Given the description of an element on the screen output the (x, y) to click on. 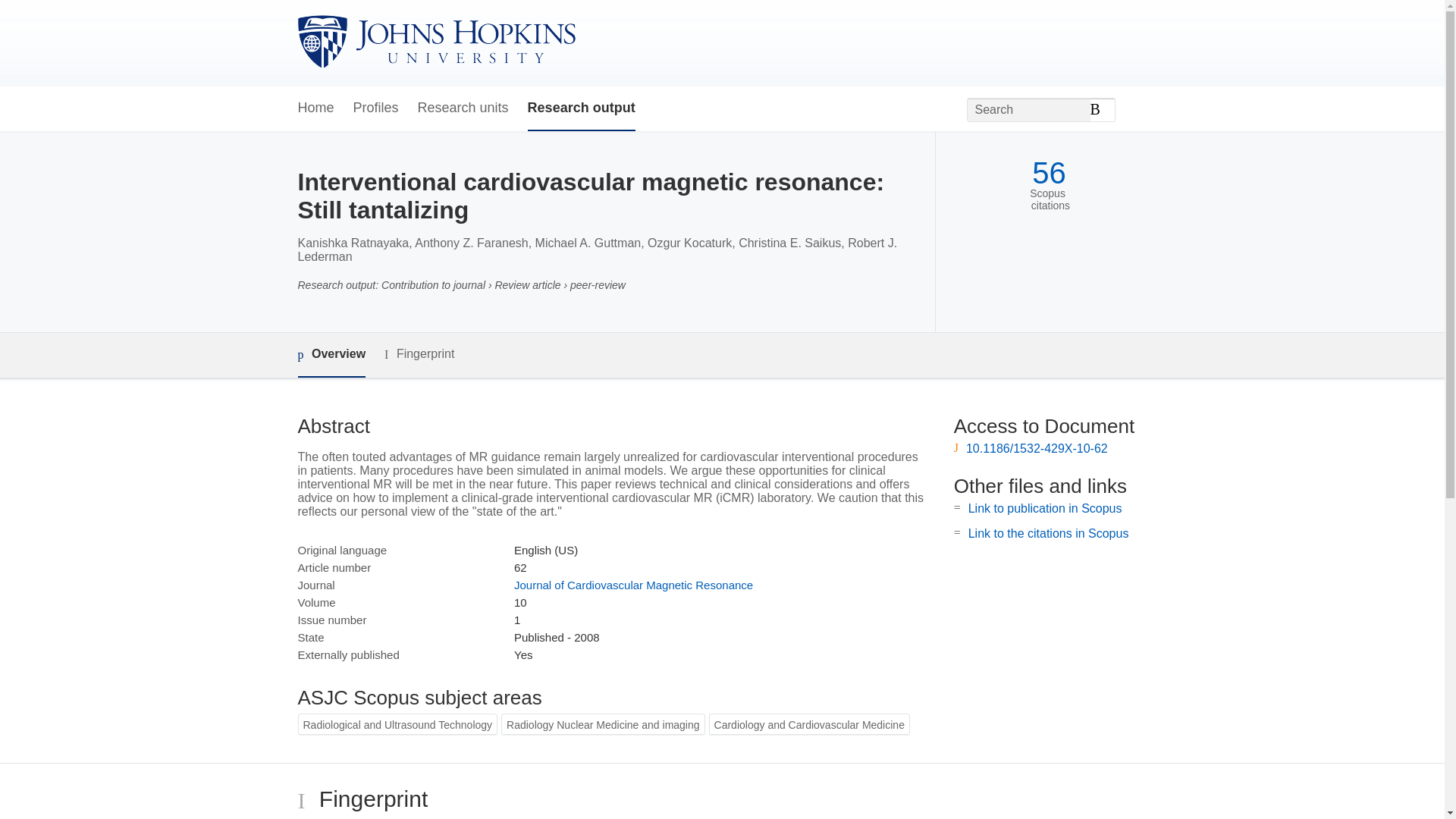
Link to the citations in Scopus (1048, 533)
Profiles (375, 108)
Link to publication in Scopus (1045, 508)
56 (1048, 172)
Journal of Cardiovascular Magnetic Resonance (632, 584)
Research units (462, 108)
Johns Hopkins University Home (436, 43)
Research output (580, 108)
Fingerprint (419, 353)
